Given the description of an element on the screen output the (x, y) to click on. 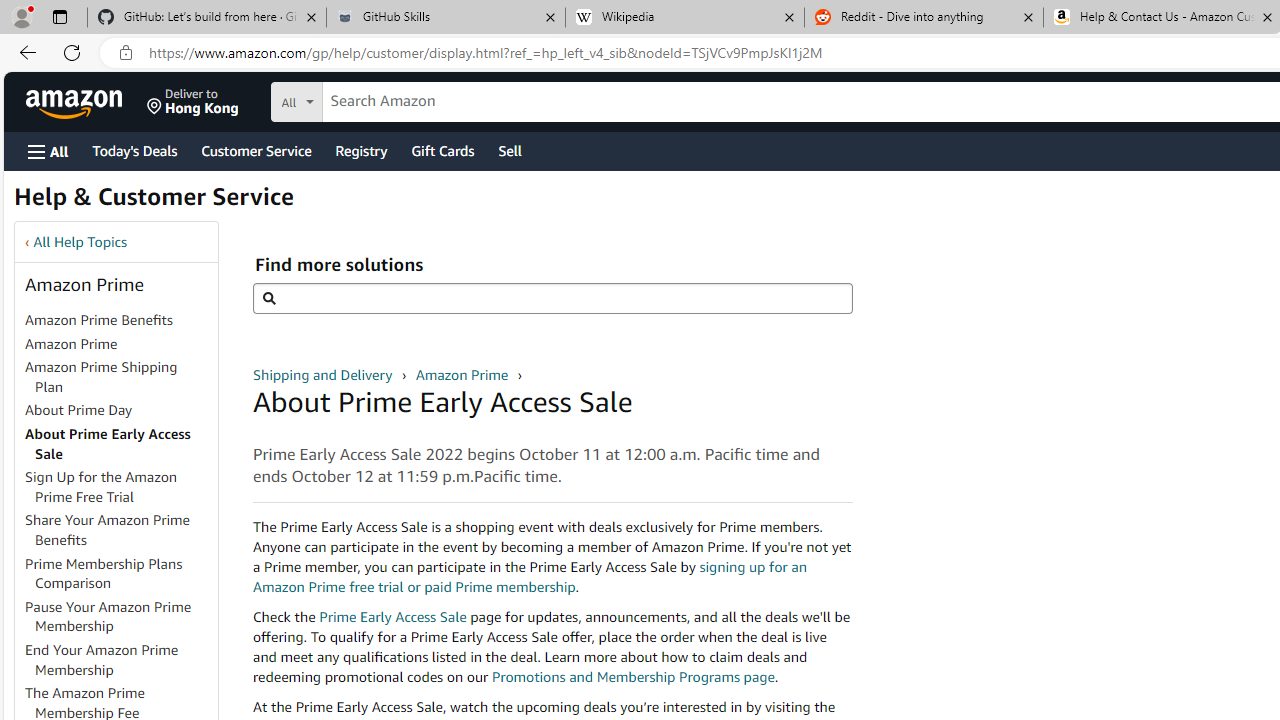
Shipping and Delivery  (324, 374)
Today's Deals (134, 150)
Gift Cards (442, 150)
Amazon Prime Shipping Plan (120, 377)
About Prime Early Access Sale (120, 444)
Amazon Prime Benefits (98, 320)
Prime Membership Plans Comparison (120, 573)
Customer Service (256, 150)
Amazon Prime Shipping Plan (101, 376)
Search in (371, 99)
Find more solutions (552, 297)
Deliver to Hong Kong (193, 101)
